Given the description of an element on the screen output the (x, y) to click on. 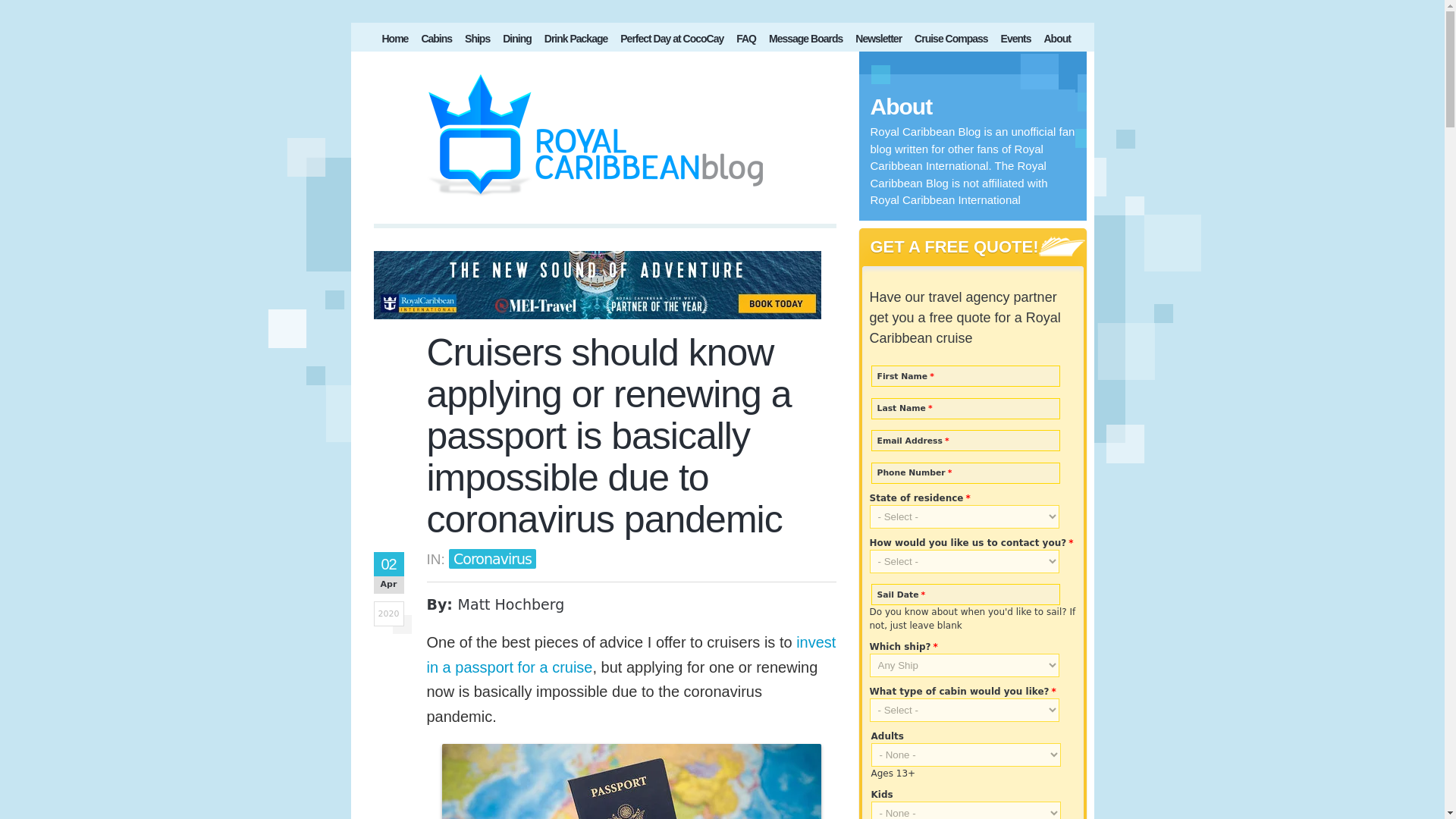
CocoCay (671, 40)
Coronavirus (491, 558)
FAQ (746, 40)
About (1056, 40)
Royal Caribbean ships (477, 40)
Home (395, 40)
Cruise cabins and suites (436, 40)
Ships (477, 40)
Events (1015, 40)
Cabins (436, 40)
Newsletter (877, 40)
Perfect Day at CocoCay (671, 40)
Royal Caribbean Blog newsletter (877, 40)
Message Boards (805, 40)
